Given the description of an element on the screen output the (x, y) to click on. 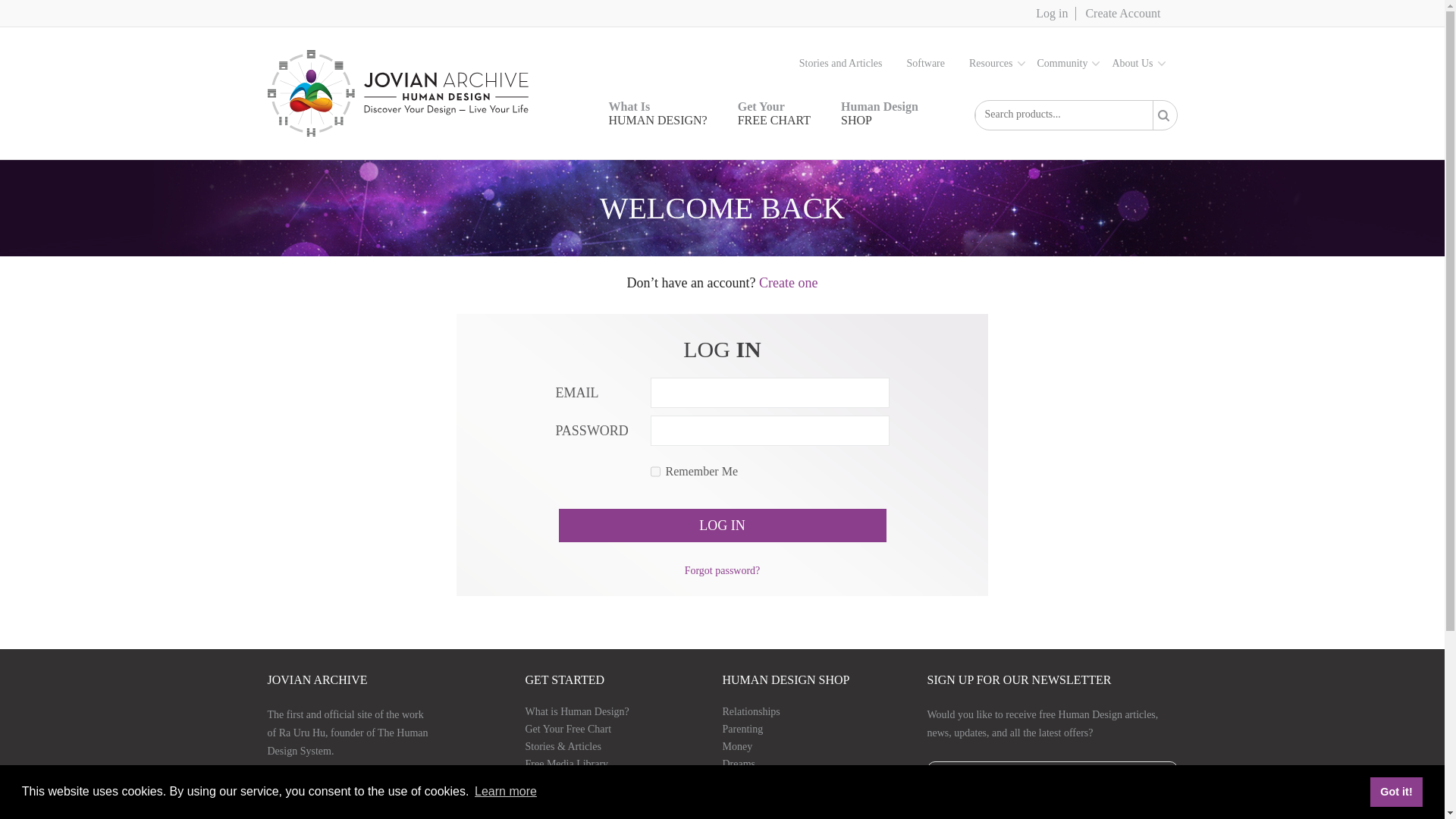
About Us (879, 113)
Learn more (1138, 63)
Software (504, 791)
Stories and Articles (930, 63)
Log in (847, 63)
Community (1055, 13)
Got it! (1068, 63)
Log in (1396, 791)
Resources (721, 525)
Create Account (997, 63)
